Given the description of an element on the screen output the (x, y) to click on. 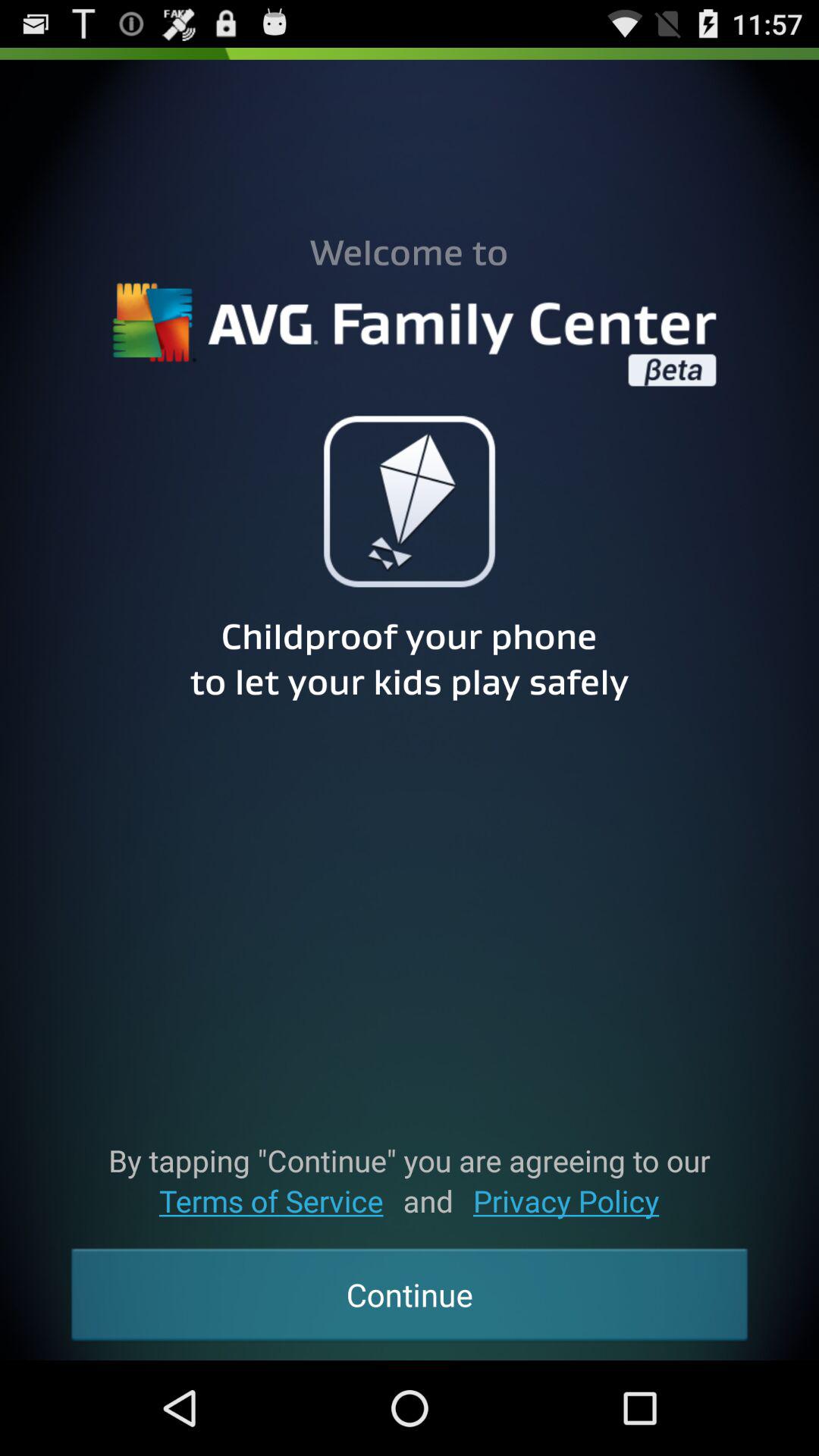
press the item at the bottom right corner (566, 1200)
